Given the description of an element on the screen output the (x, y) to click on. 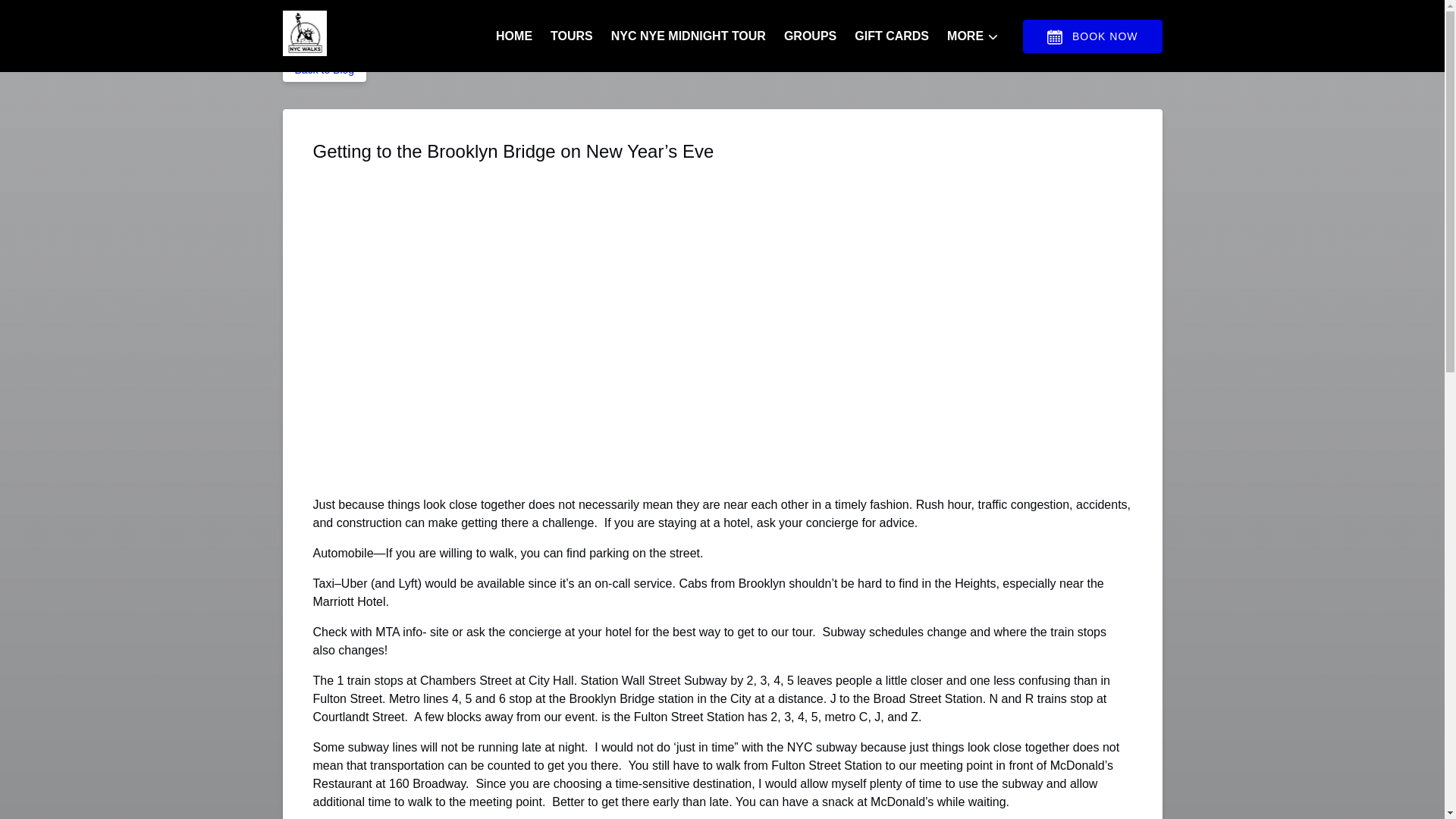
GIFT CARDS (891, 35)
Skip to footer (42, 16)
CALENDAR BOOK NOW (1092, 36)
CALENDAR (1054, 37)
Skip to primary navigation (77, 16)
GROUPS (809, 35)
TOURS (571, 35)
Skip to content (47, 16)
NYC NYE MIDNIGHT TOUR (688, 35)
MORE (972, 35)
Click here to return to Blog (324, 69)
HOME (513, 35)
Open More Menu (975, 32)
Back to Blog (324, 69)
